Given the description of an element on the screen output the (x, y) to click on. 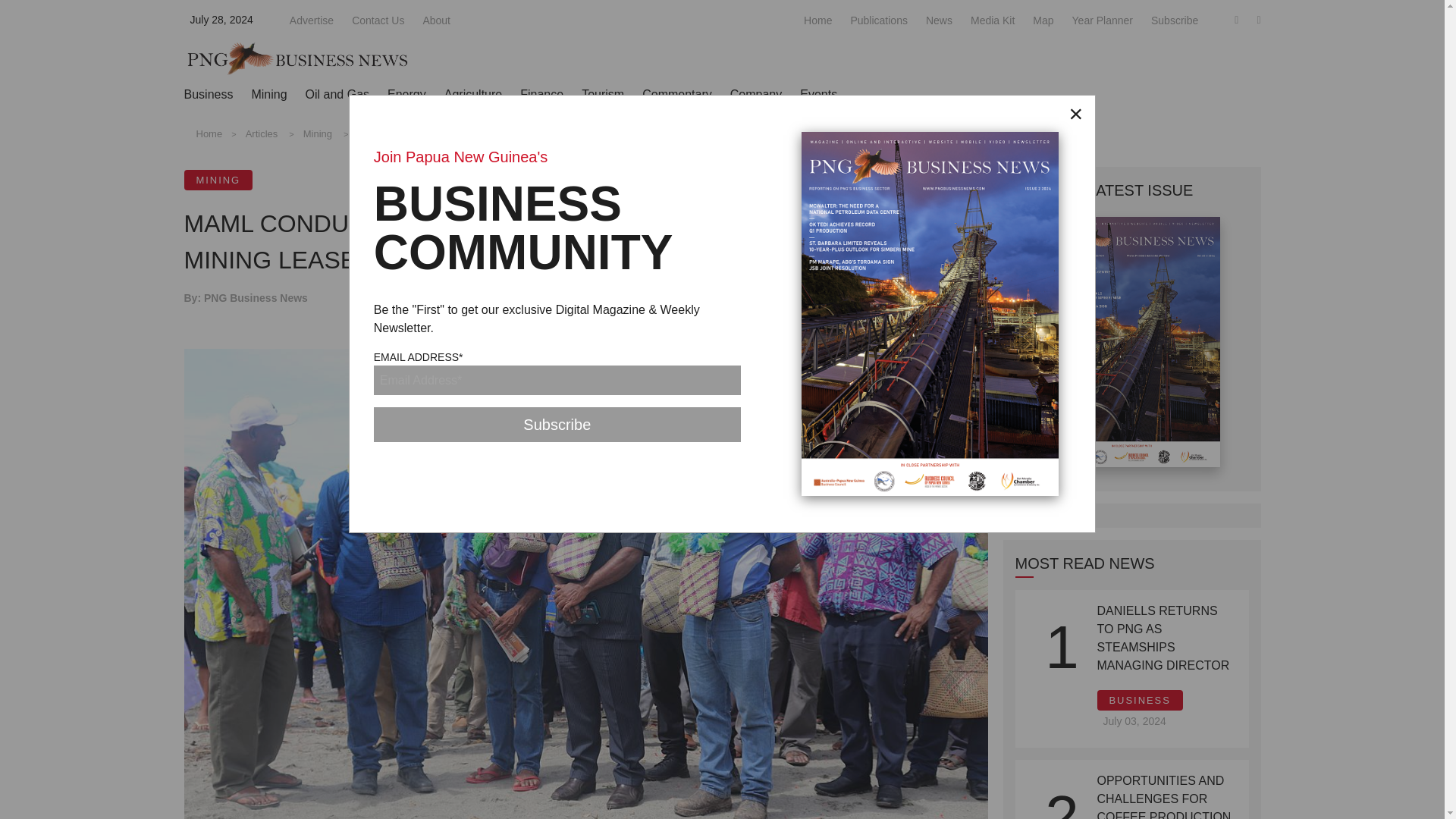
PNG Business News (296, 58)
Publications (878, 20)
About (435, 20)
Oil and Gas (337, 94)
Business (207, 94)
Agriculture (473, 94)
Company (755, 94)
Contact Us (378, 20)
Events (818, 94)
Year Planner (1101, 20)
Finance (541, 94)
Tourism (602, 94)
Commentary (676, 94)
Home (817, 20)
Map (1042, 20)
